Given the description of an element on the screen output the (x, y) to click on. 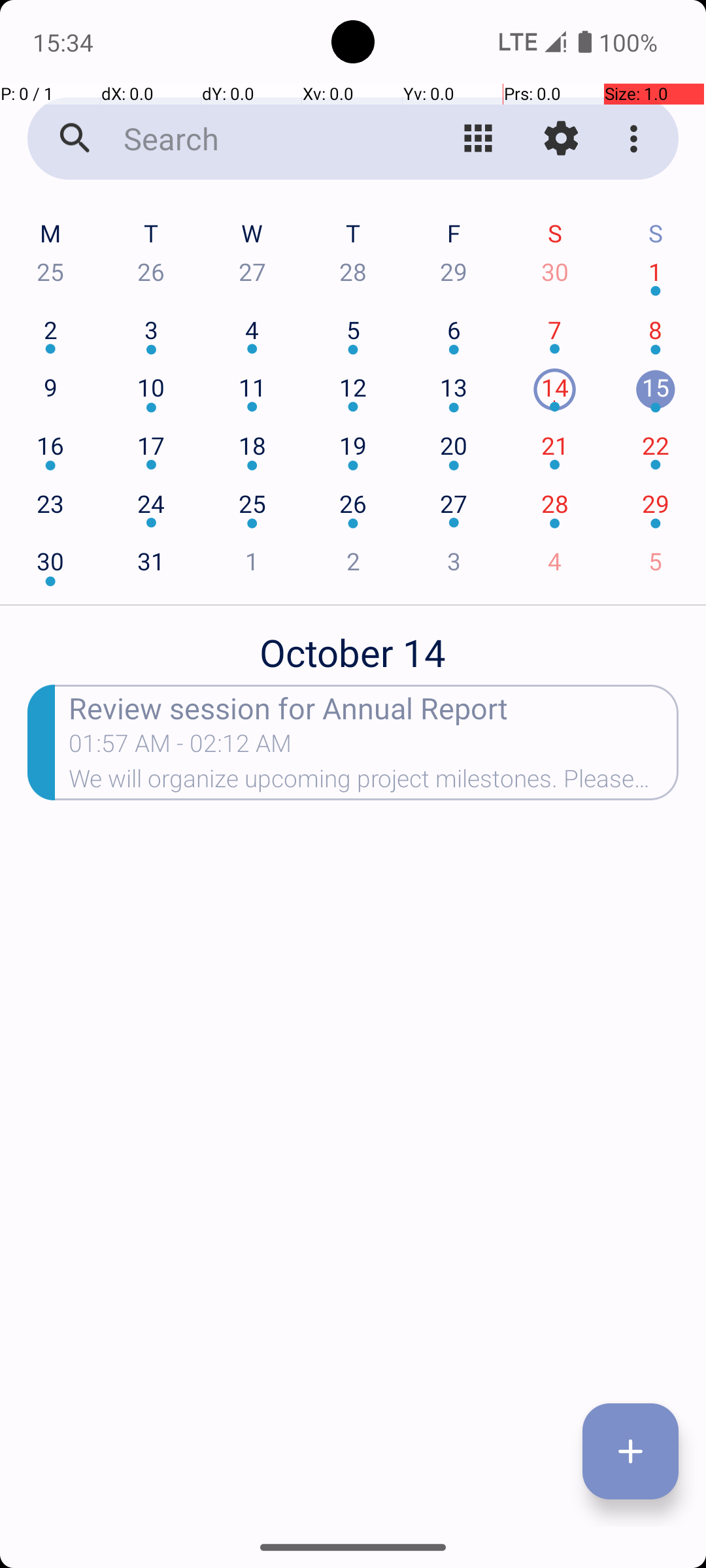
October 14 Element type: android.widget.TextView (352, 644)
01:57 AM - 02:12 AM Element type: android.widget.TextView (179, 747)
We will organize upcoming project milestones. Please bring relevant documents. Element type: android.widget.TextView (373, 782)
